Given the description of an element on the screen output the (x, y) to click on. 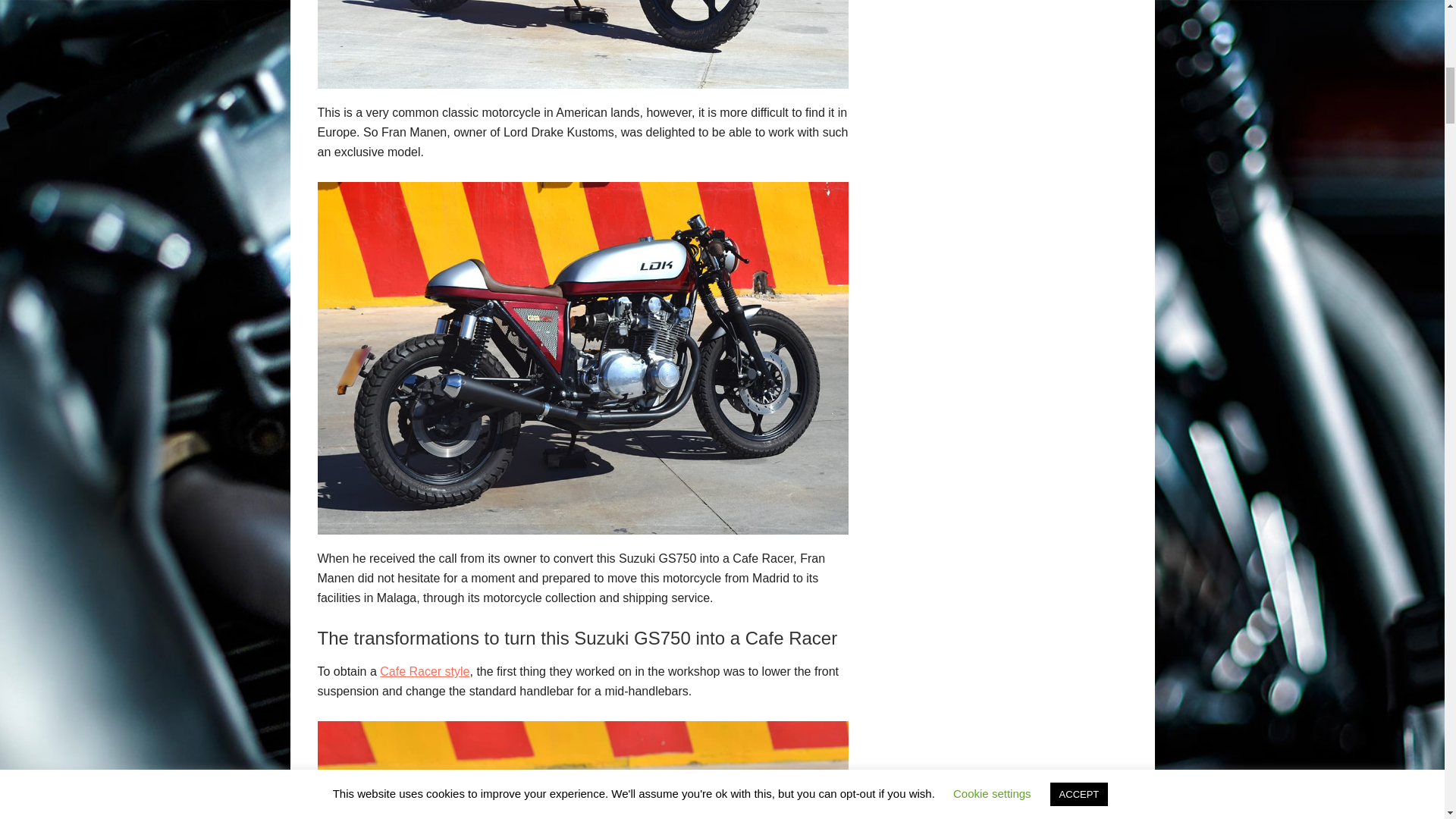
Cafe Racer style (424, 671)
